Given the description of an element on the screen output the (x, y) to click on. 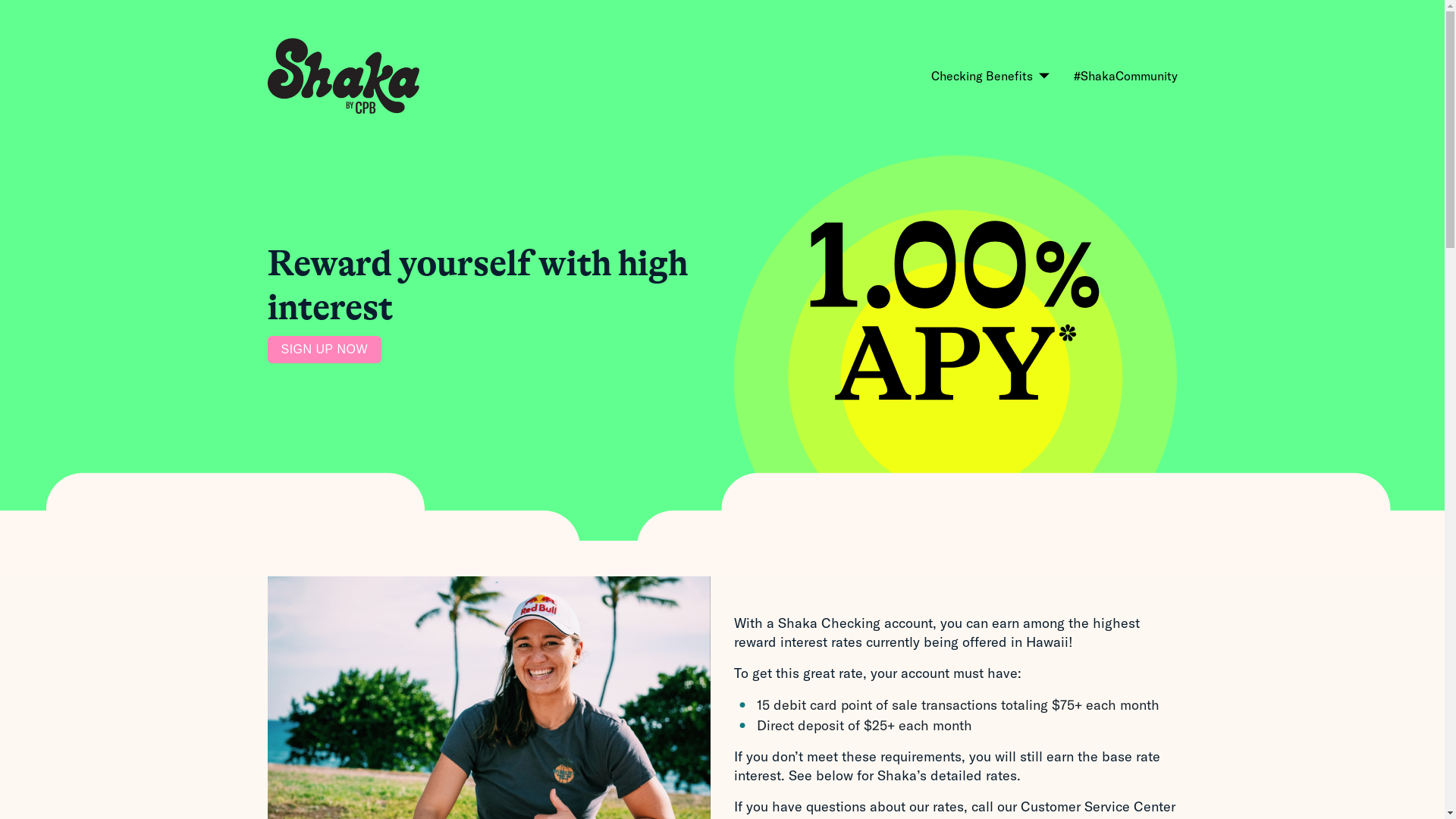
Banner-Bottom-BG-cloud-shaka-transparent Element type: hover (722, 521)
Checking Benefits Element type: text (987, 75)
SIGN UP NOW Element type: text (323, 349)
#ShakaCommunity Element type: text (1125, 75)
1%-interest-rate-06172022 Element type: hover (955, 311)
